Given the description of an element on the screen output the (x, y) to click on. 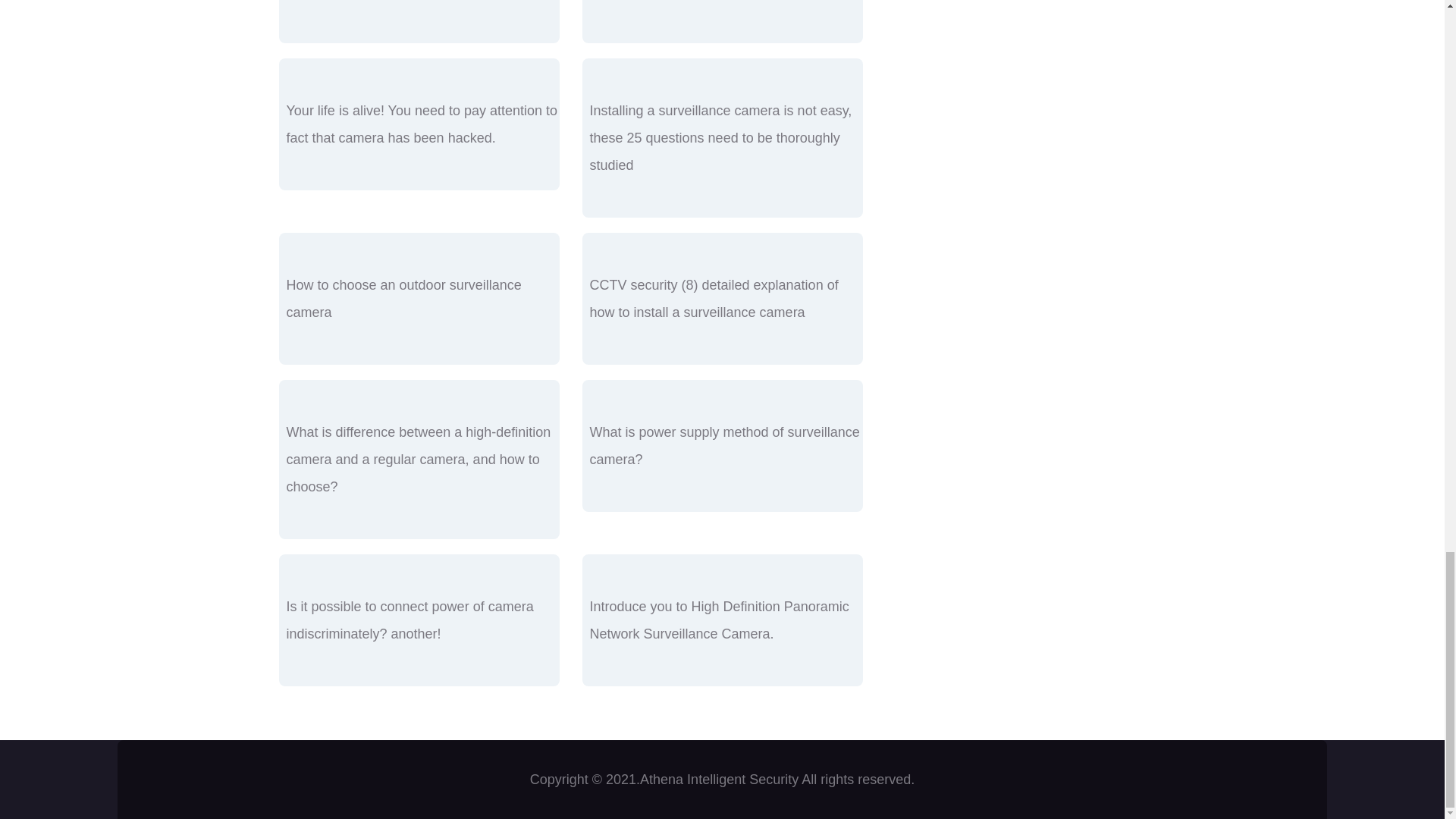
How to choose an outdoor surveillance camera (403, 298)
What is power supply method of surveillance camera? (724, 445)
